Given the description of an element on the screen output the (x, y) to click on. 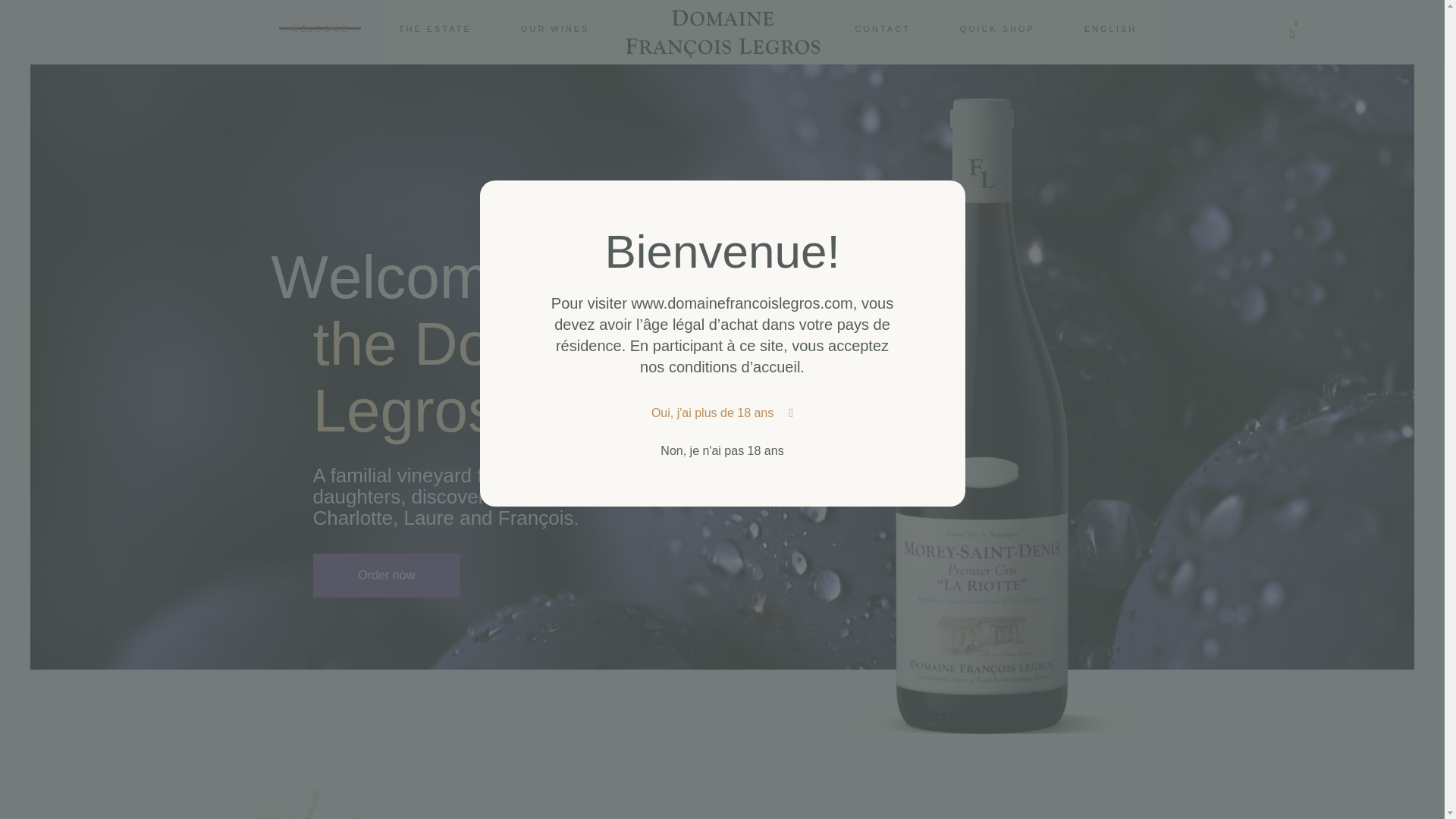
THE ESTATE (435, 27)
OUR WINES (555, 27)
WELCOME (320, 27)
ENGLISH (440, 33)
CONTACT (1110, 27)
QUICK SHOP (882, 27)
